Given the description of an element on the screen output the (x, y) to click on. 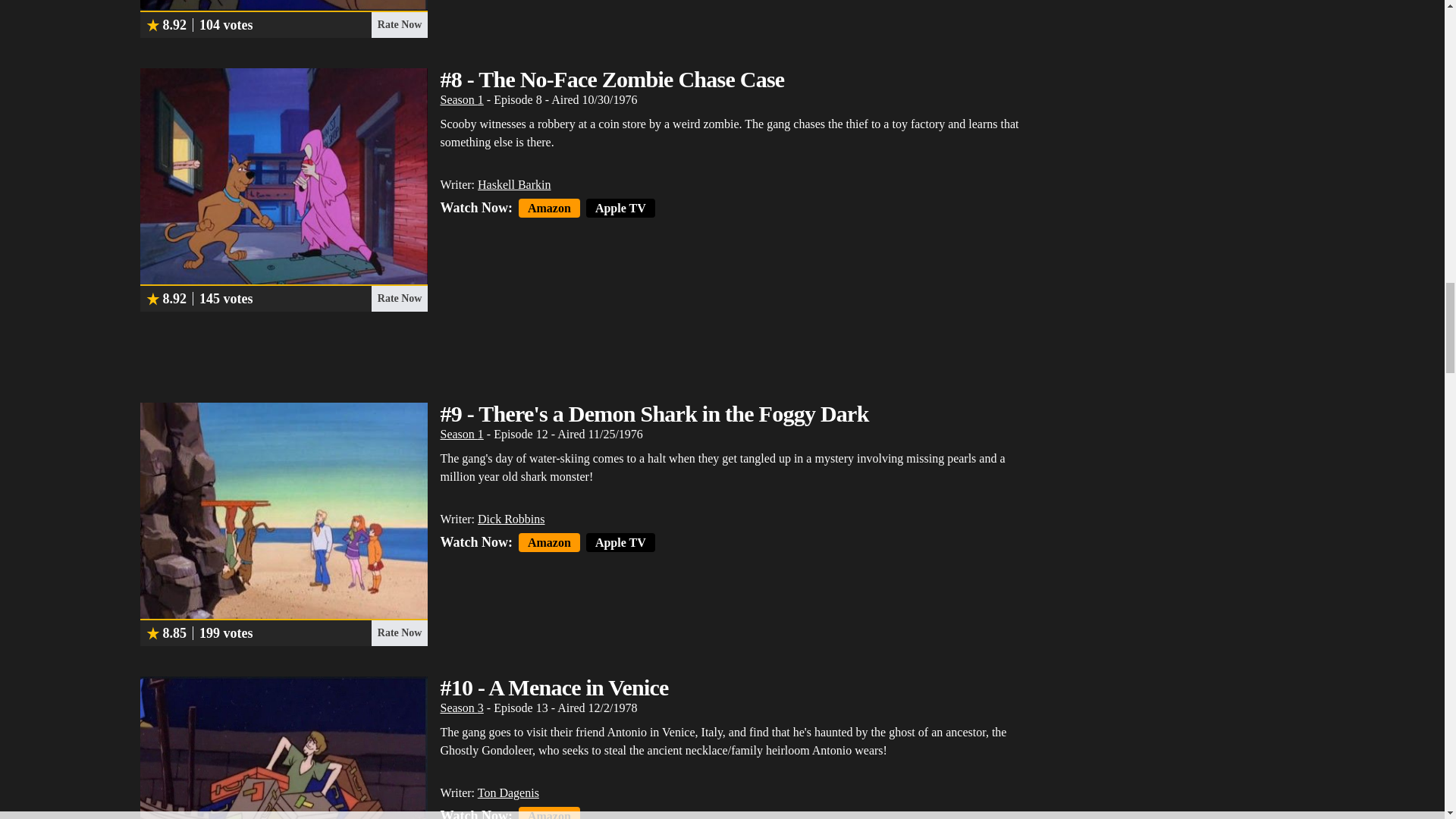
Rate Now (399, 24)
